Given the description of an element on the screen output the (x, y) to click on. 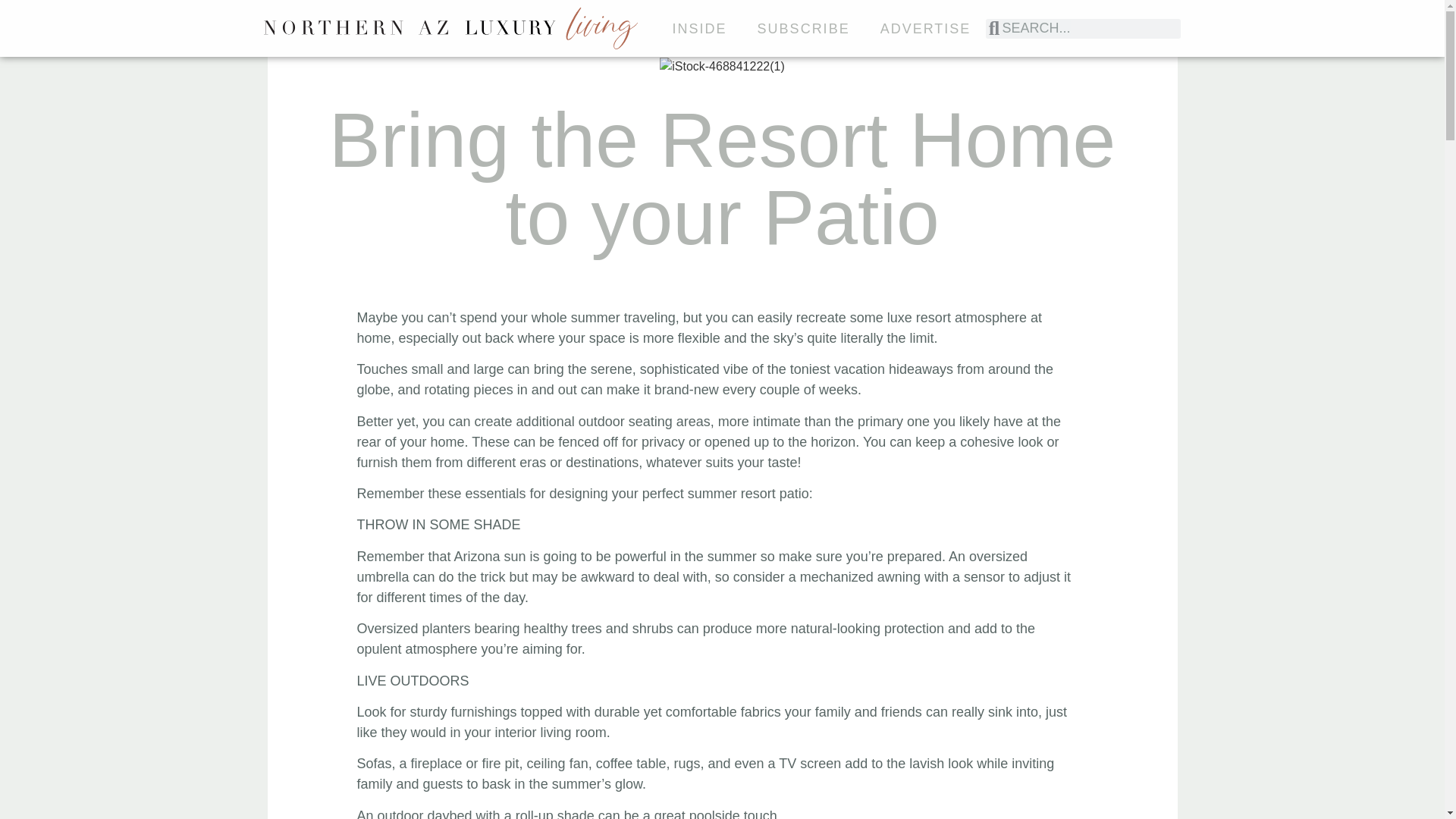
SUBSCRIBE (803, 27)
ADVERTISE (925, 27)
INSIDE (700, 27)
